Given the description of an element on the screen output the (x, y) to click on. 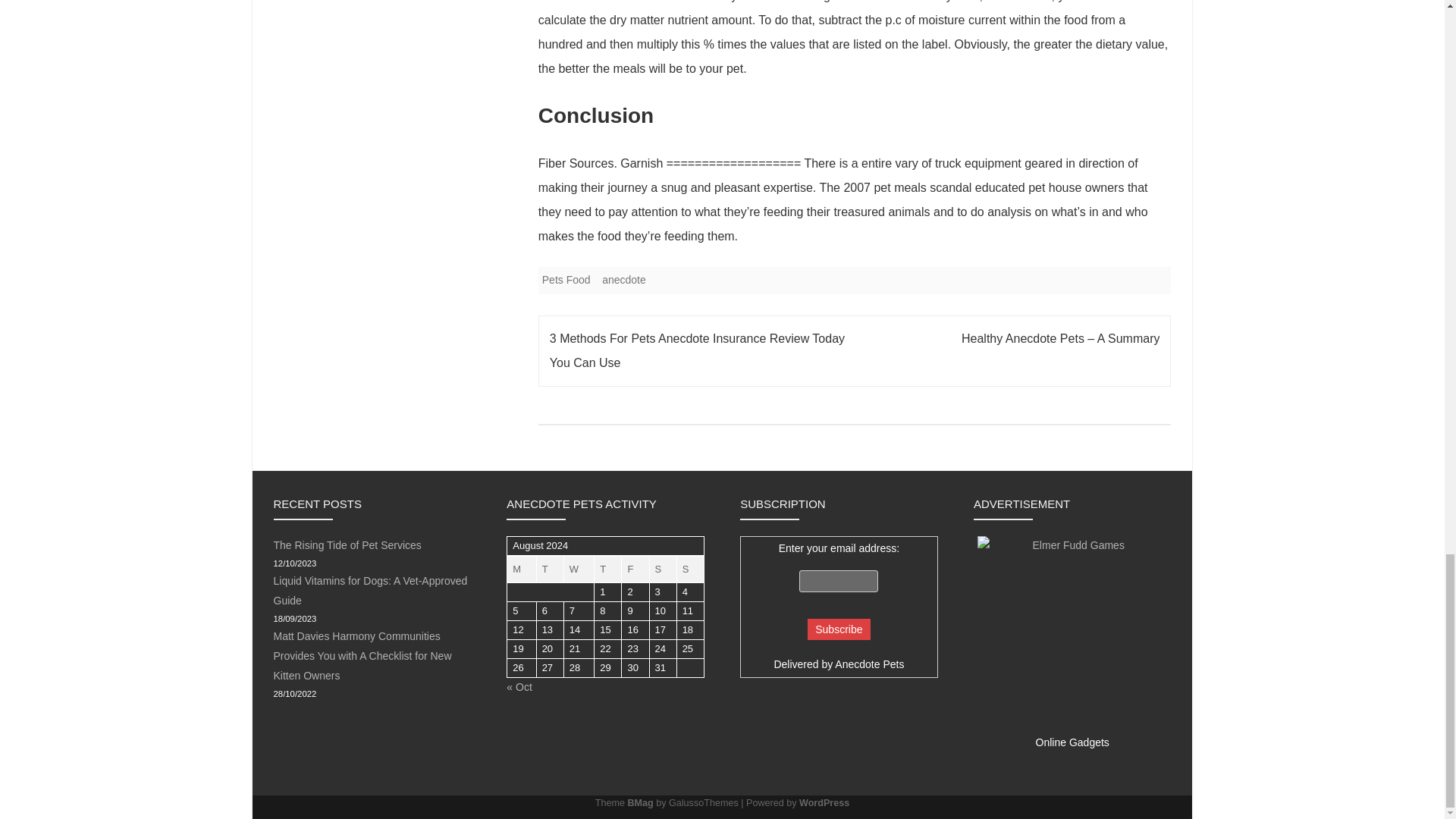
Thursday (607, 569)
anecdote (624, 279)
Monday (520, 569)
Pets Food (566, 279)
Subscribe (838, 629)
Saturday (663, 569)
Tuesday (549, 569)
Friday (635, 569)
Wednesday (578, 569)
